Given the description of an element on the screen output the (x, y) to click on. 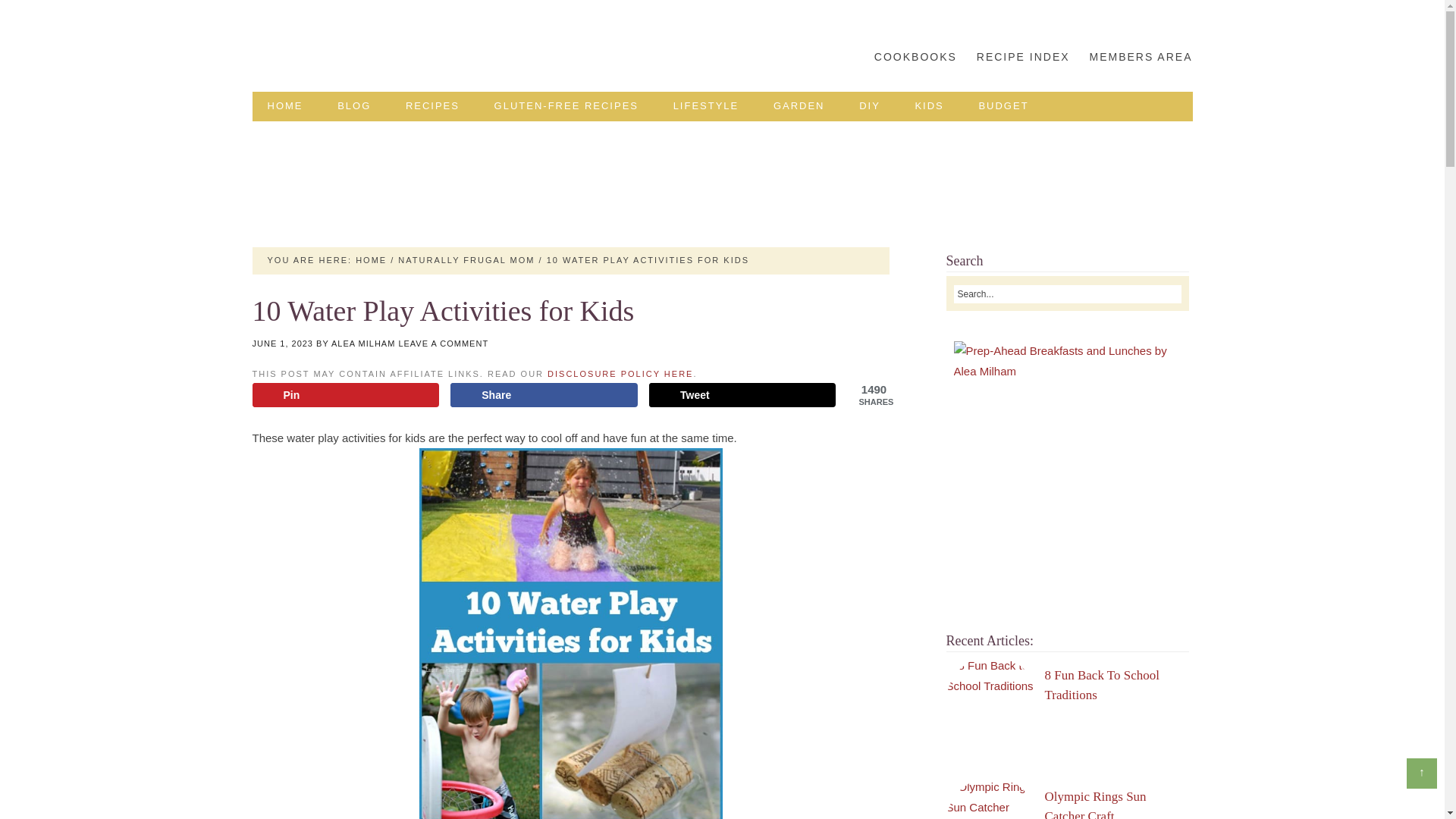
BUDGET (1002, 106)
HOME (371, 259)
BLOG (353, 106)
8 Fun Back To School Traditions (1102, 684)
COOKBOOKS (914, 56)
LIFESTYLE (706, 106)
KIDS (928, 106)
Olympic Rings Sun Catcher Craft (1096, 799)
GARDEN (799, 106)
Share on X (742, 395)
DIY (869, 106)
Share on Facebook (543, 395)
RECIPES (432, 106)
MEMBERS AREA (1136, 56)
GLUTEN-FREE RECIPES (566, 106)
